Given the description of an element on the screen output the (x, y) to click on. 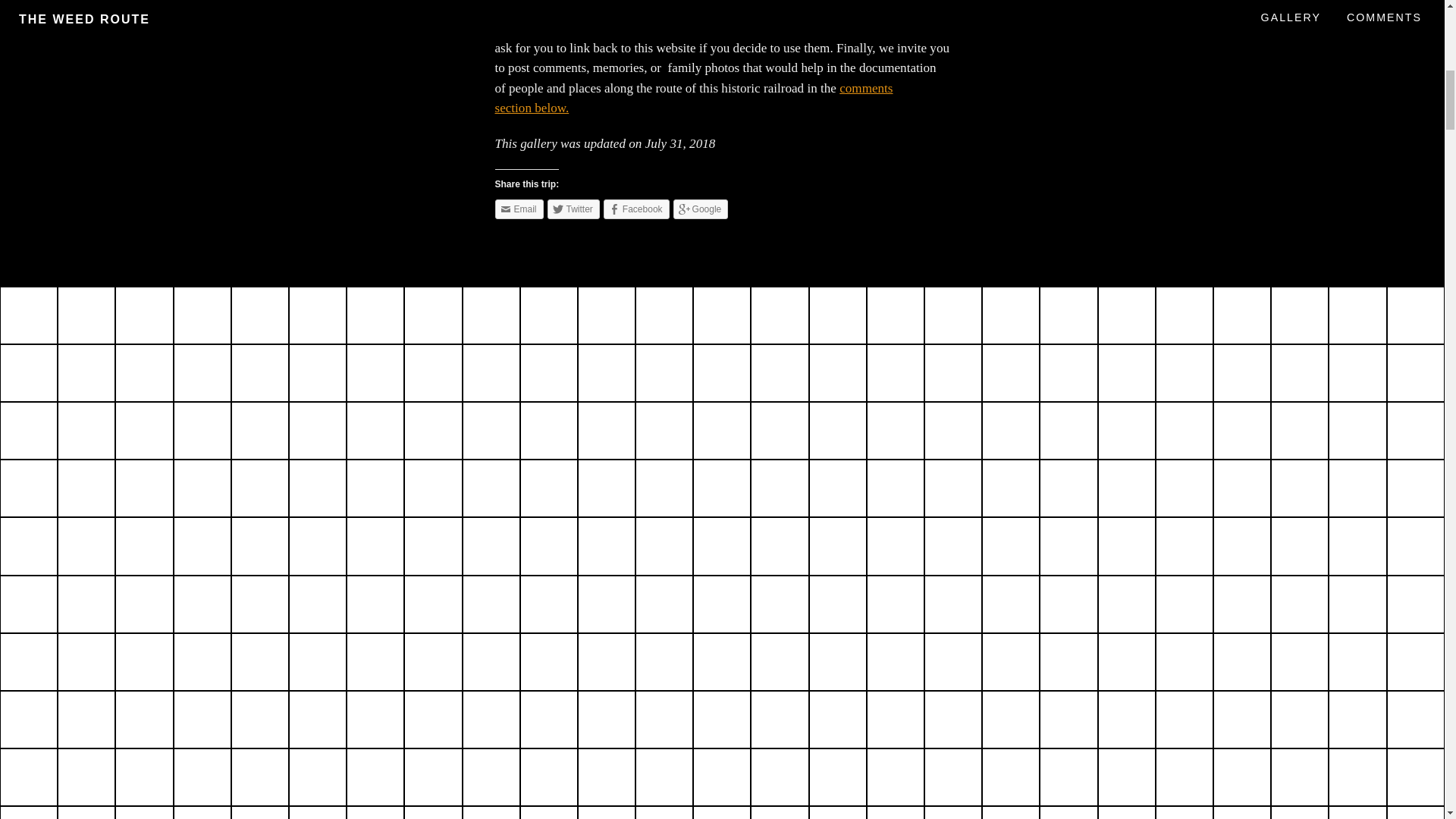
Share on Facebook (636, 209)
Click to email this to a friend (519, 209)
Twitter (573, 209)
Facebook (636, 209)
comments section below. (693, 98)
Diner in Forsyth, Montana (491, 314)
Google (700, 209)
Diner in Forsyth, Montana (548, 314)
Click to share on Twitter (573, 209)
Email (519, 209)
